Given the description of an element on the screen output the (x, y) to click on. 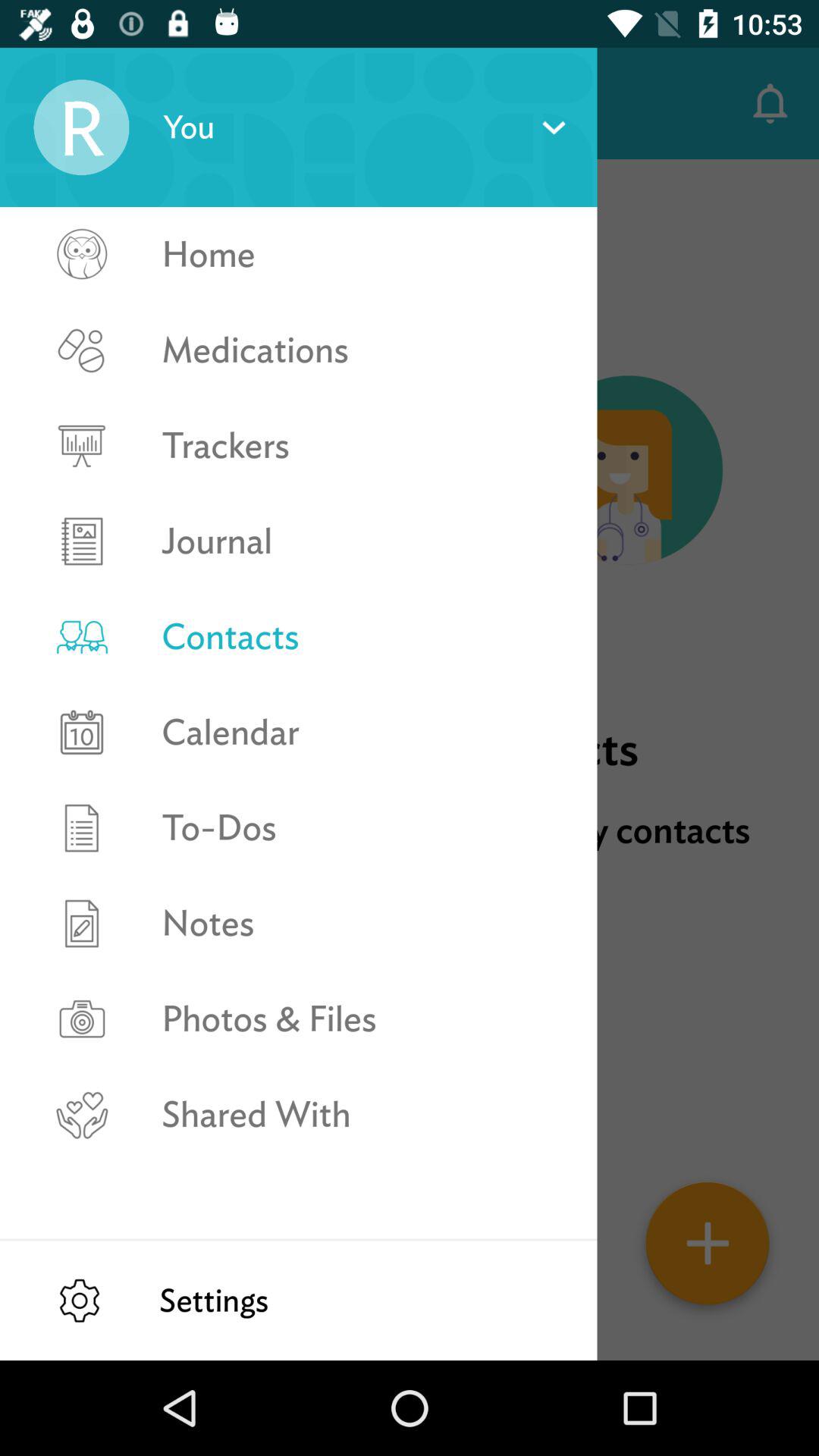
scroll to calendar (363, 731)
